Given the description of an element on the screen output the (x, y) to click on. 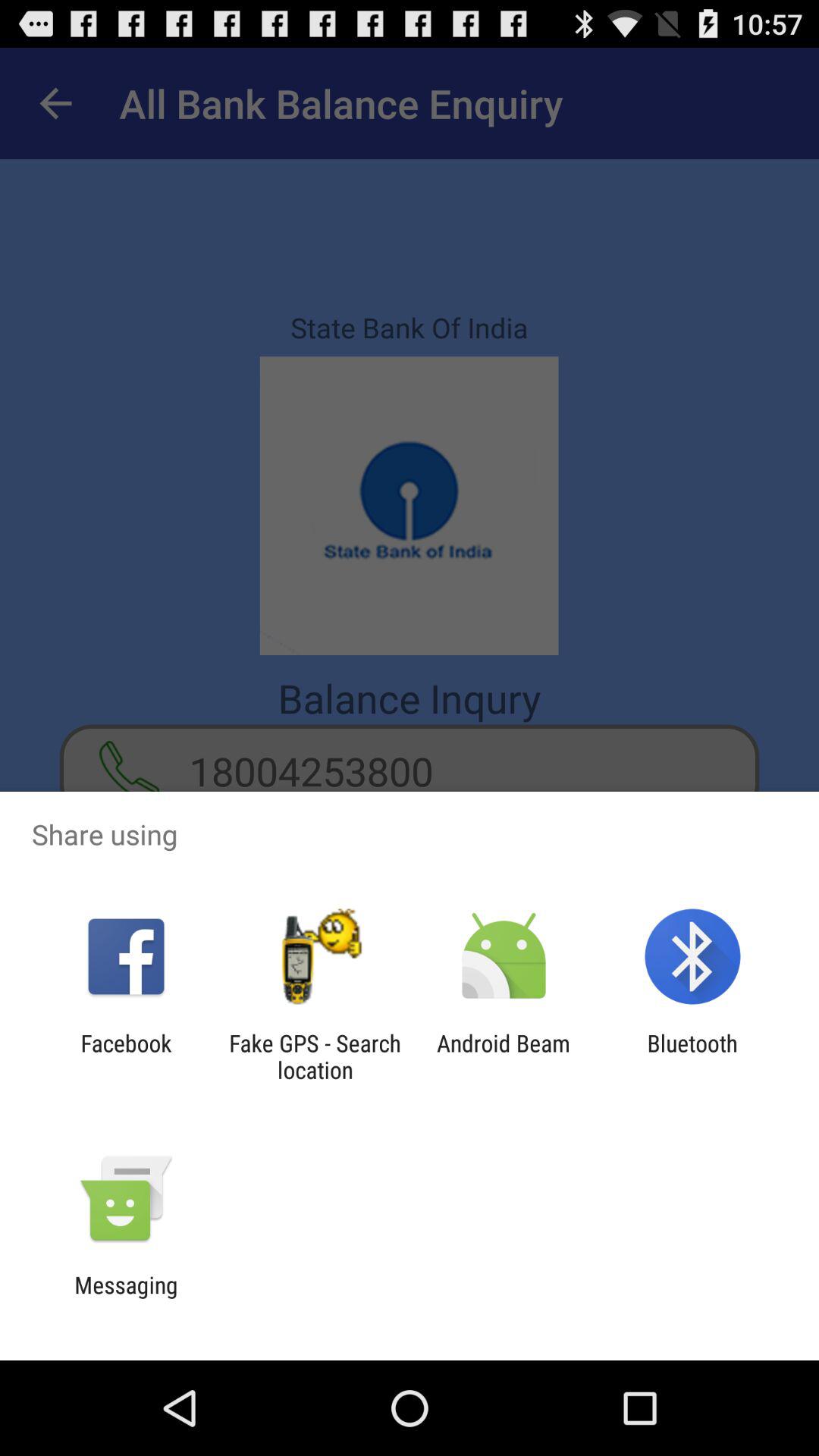
turn on facebook icon (125, 1056)
